Given the description of an element on the screen output the (x, y) to click on. 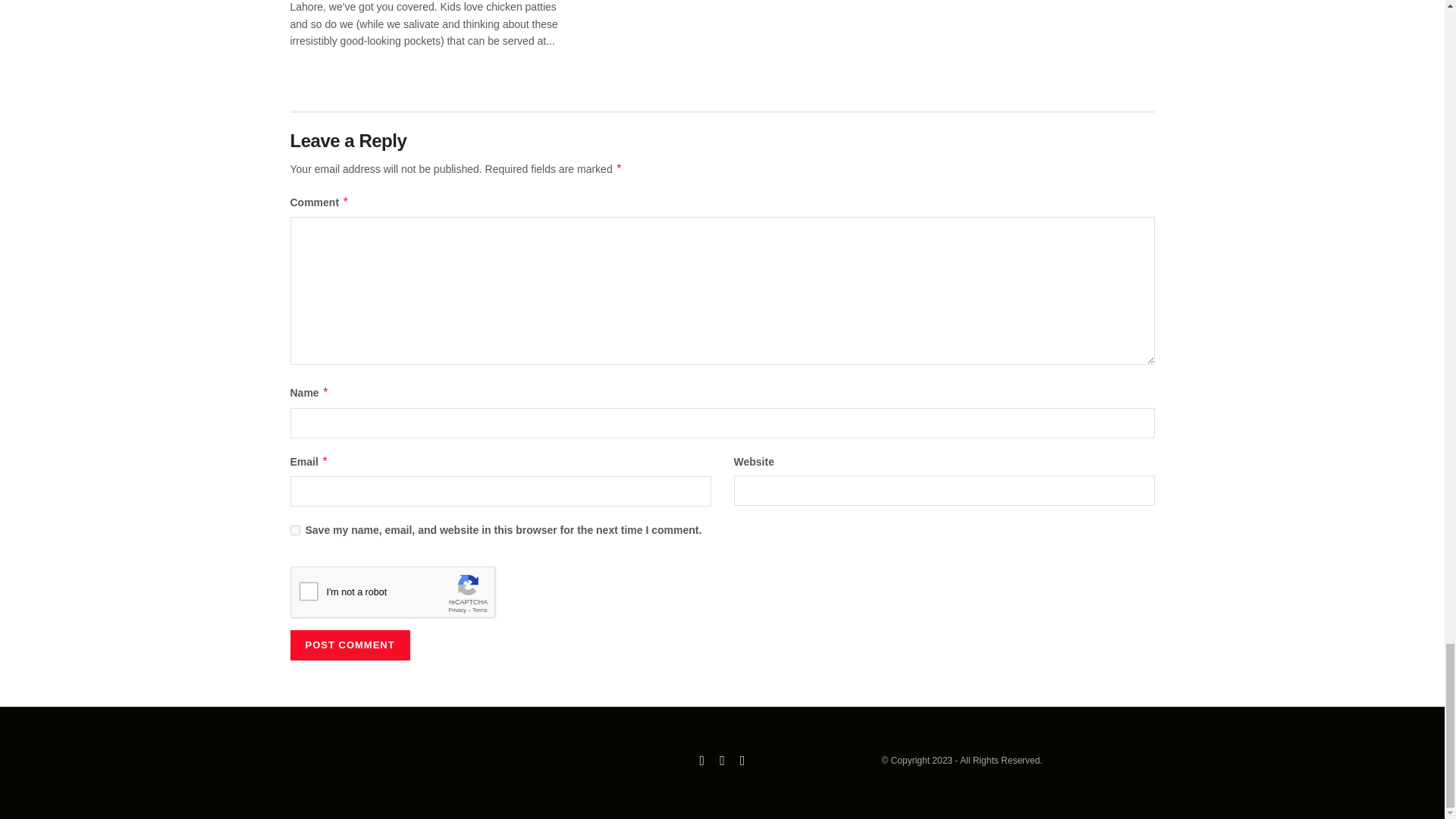
Post Comment (349, 644)
reCAPTCHA (404, 595)
yes (294, 530)
